Given the description of an element on the screen output the (x, y) to click on. 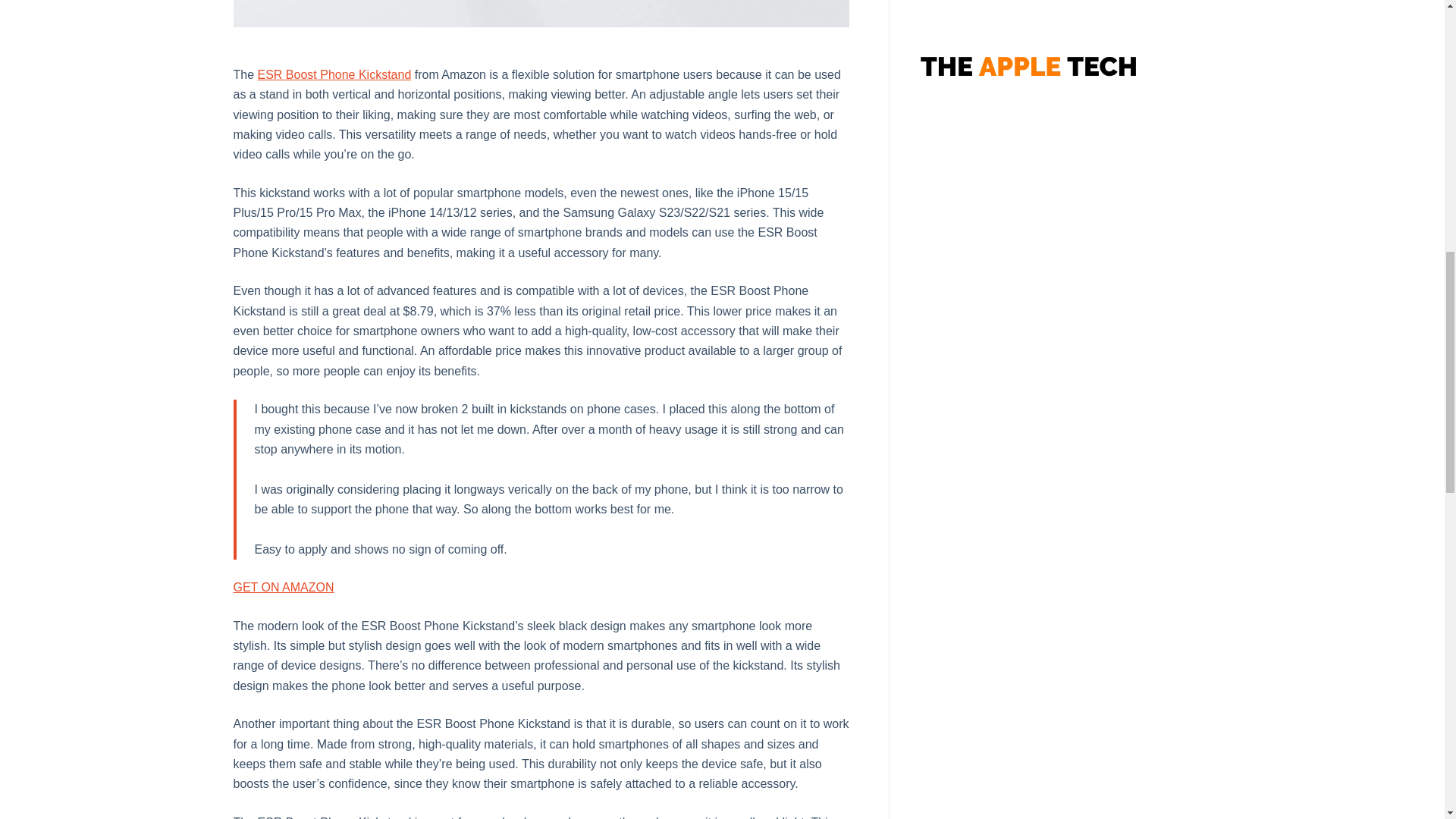
GET ON AMAZON (283, 586)
ESR Boost Phone Kickstand (334, 74)
